Given the description of an element on the screen output the (x, y) to click on. 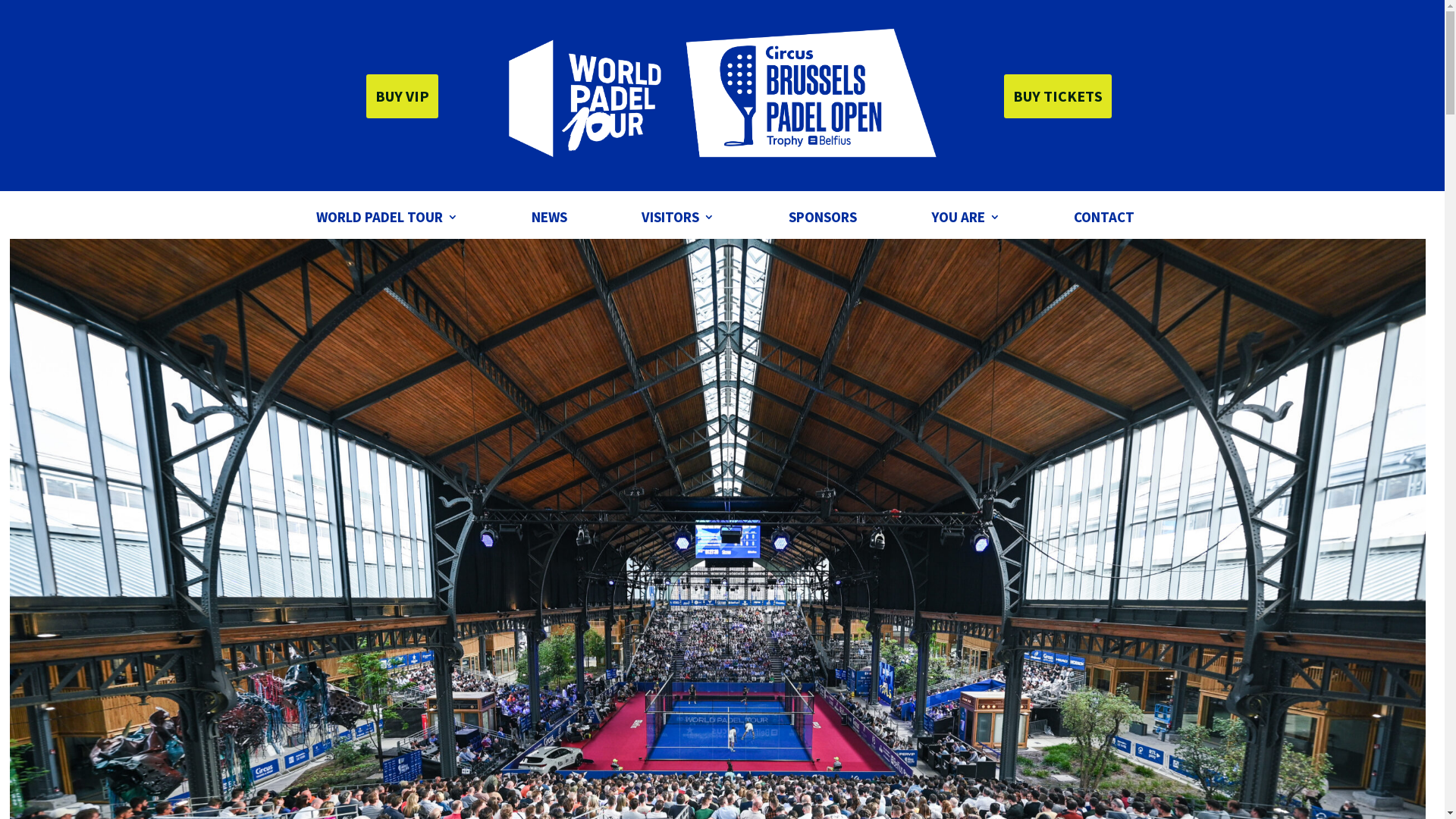
YOU ARE Element type: text (965, 219)
VISITORS Element type: text (677, 219)
SPONSORS Element type: text (822, 219)
CONTACT Element type: text (1103, 219)
BUY TICKETS Element type: text (1057, 96)
BUY VIP Element type: text (402, 96)
WORLD PADEL TOUR Element type: text (386, 219)
NEWS Element type: text (549, 219)
